Given the description of an element on the screen output the (x, y) to click on. 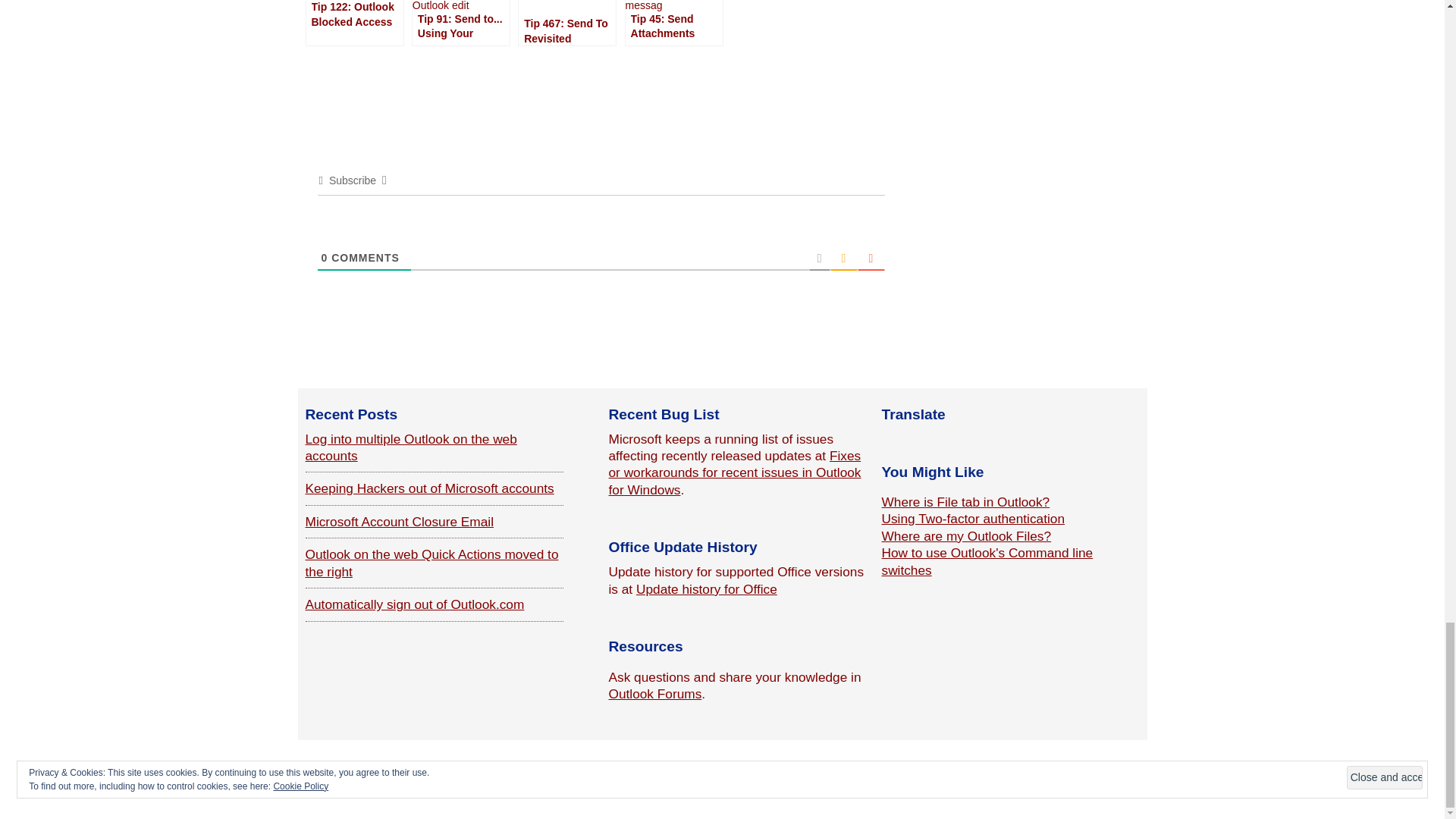
Tip 467: Send To Revisited (566, 22)
